Given the description of an element on the screen output the (x, y) to click on. 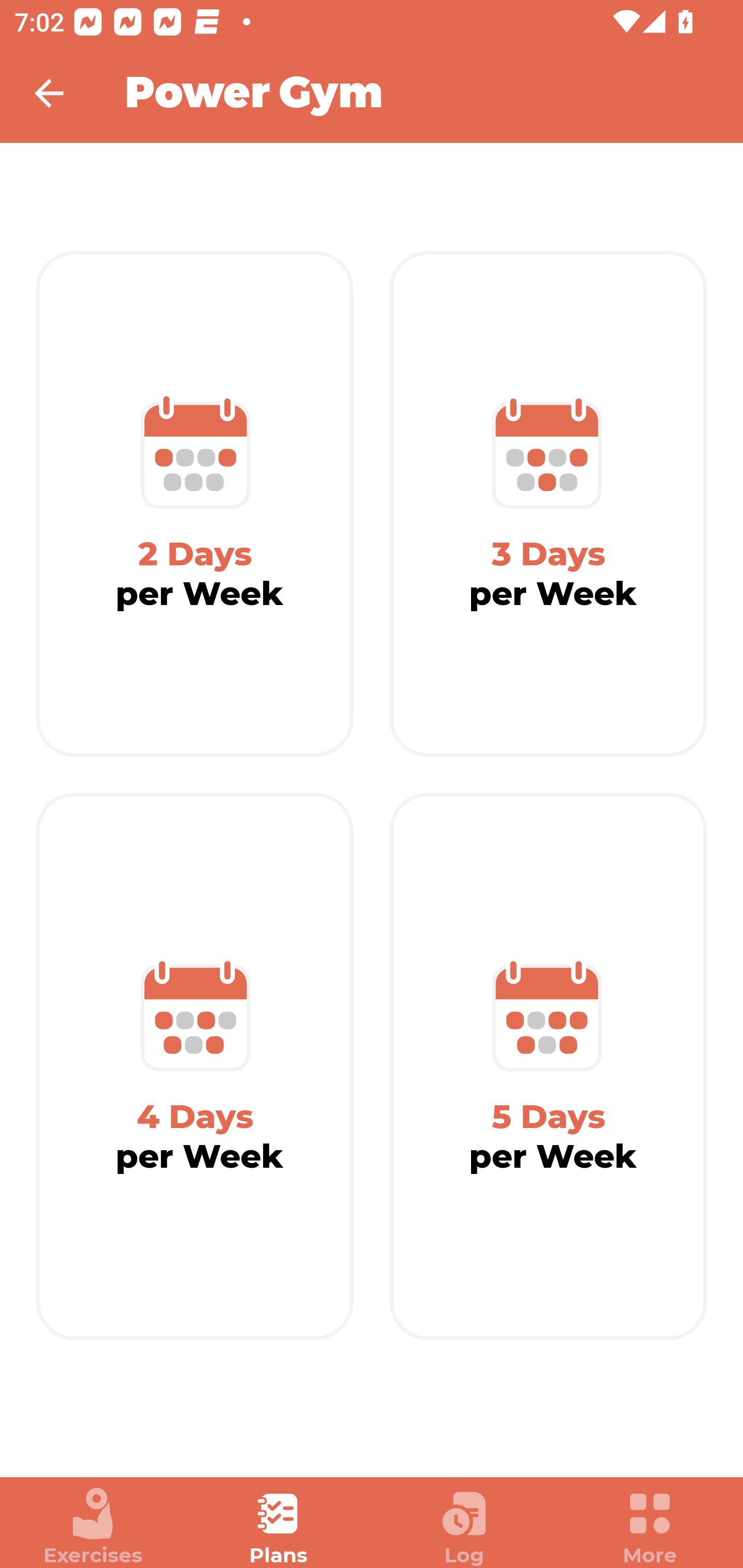
Back (62, 92)
2 Days
 per Week (194, 503)
3 Days
 per Week (547, 503)
4 Days
 per Week (194, 1066)
5 Days
 per Week (547, 1066)
Exercises (92, 1527)
Plans (278, 1527)
Log (464, 1527)
More (650, 1527)
